Given the description of an element on the screen output the (x, y) to click on. 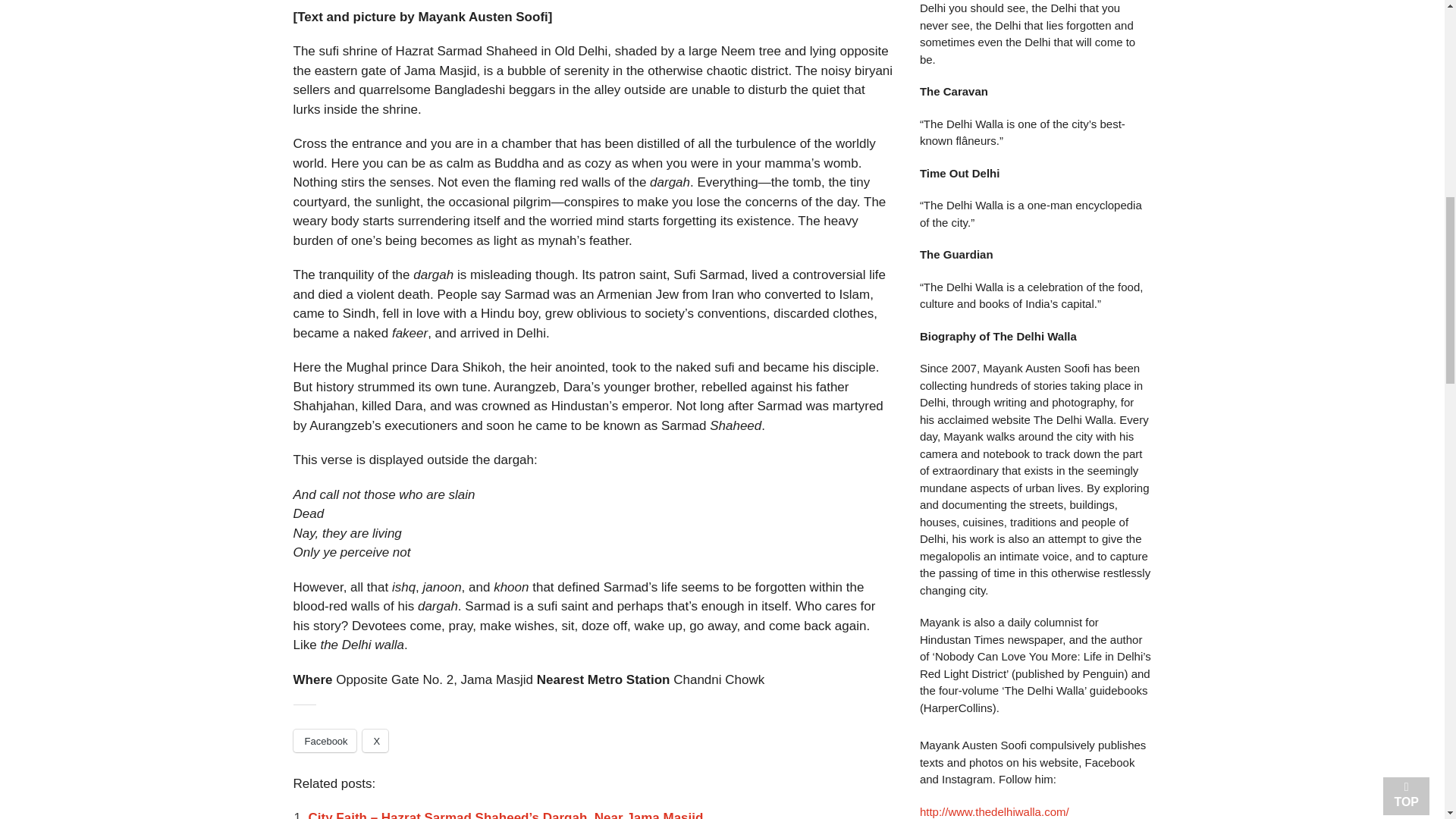
Click to share on X (375, 740)
Click to share on Facebook (323, 740)
